Given the description of an element on the screen output the (x, y) to click on. 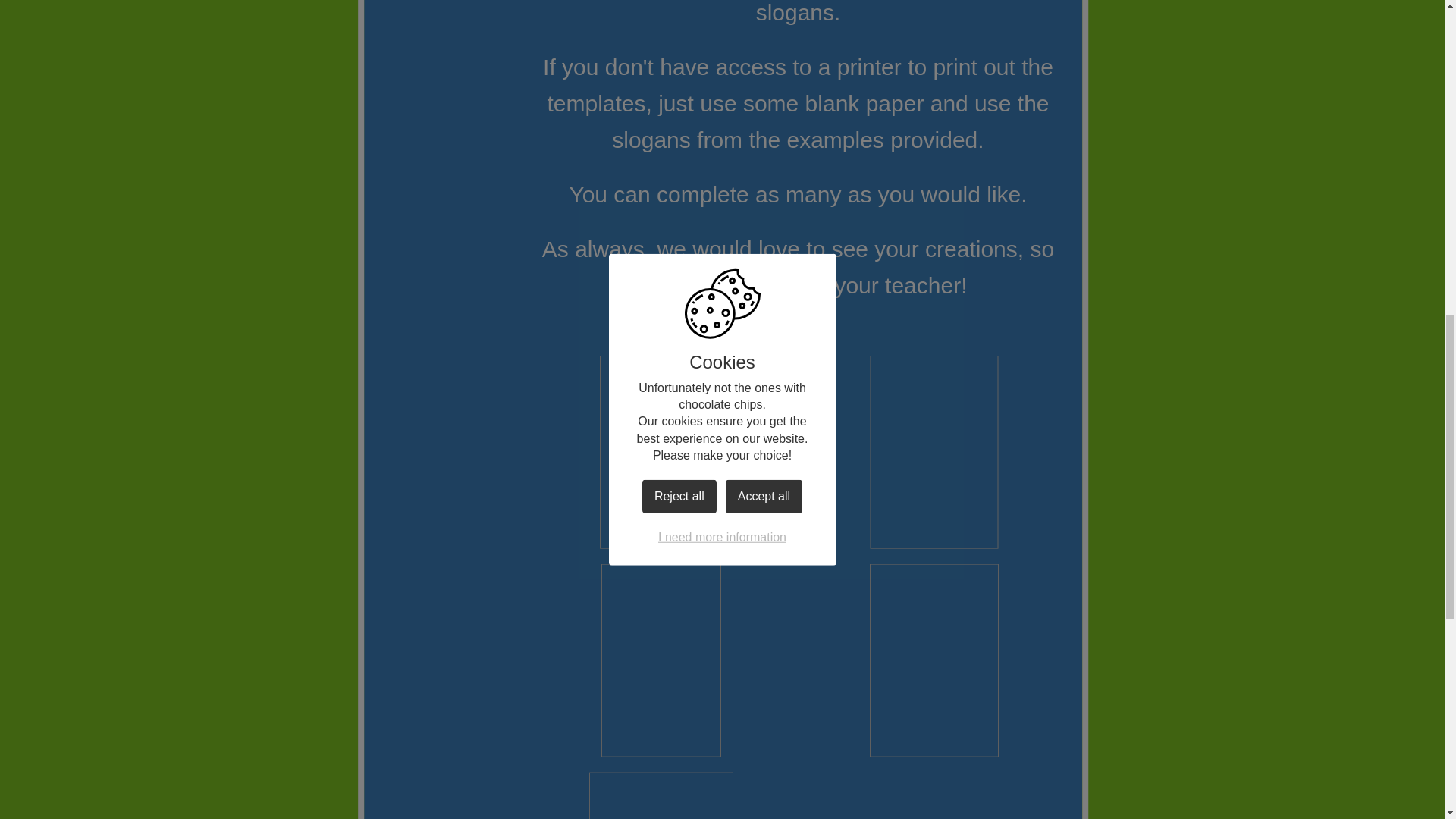
View large version of image (661, 795)
View large version of image (933, 660)
View large version of image (933, 451)
View large version of image (661, 451)
View large version of image (661, 660)
